Given the description of an element on the screen output the (x, y) to click on. 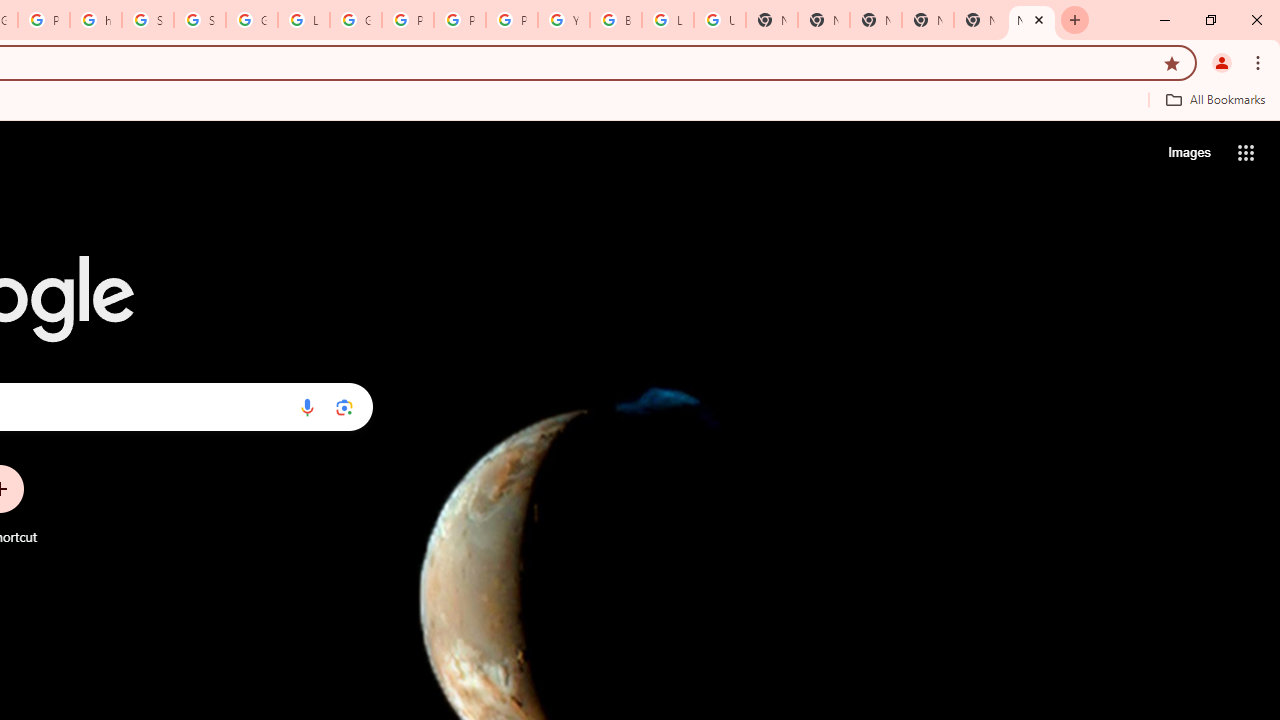
Sign in - Google Accounts (200, 20)
YouTube (563, 20)
Privacy Help Center - Policies Help (407, 20)
https://scholar.google.com/ (95, 20)
New Tab (1032, 20)
New Tab (875, 20)
